Given the description of an element on the screen output the (x, y) to click on. 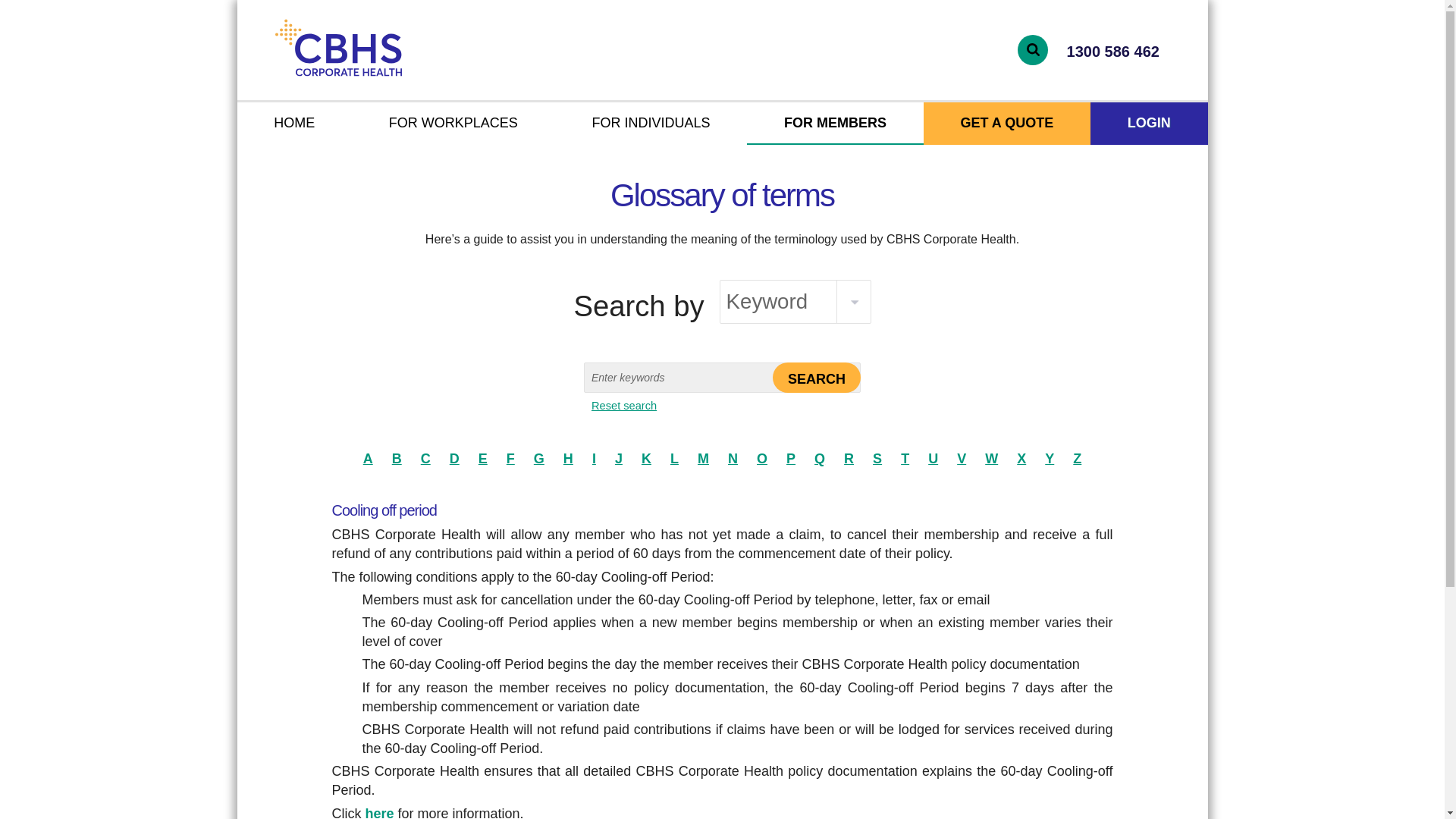
FOR MEMBERS (834, 123)
FOR WORKPLACES (453, 123)
FOR INDIVIDUALS (651, 123)
CBHS Corporate Health. We're family. (379, 47)
Search (816, 377)
Skip to Navigation (253, 11)
HOME (293, 123)
